Given the description of an element on the screen output the (x, y) to click on. 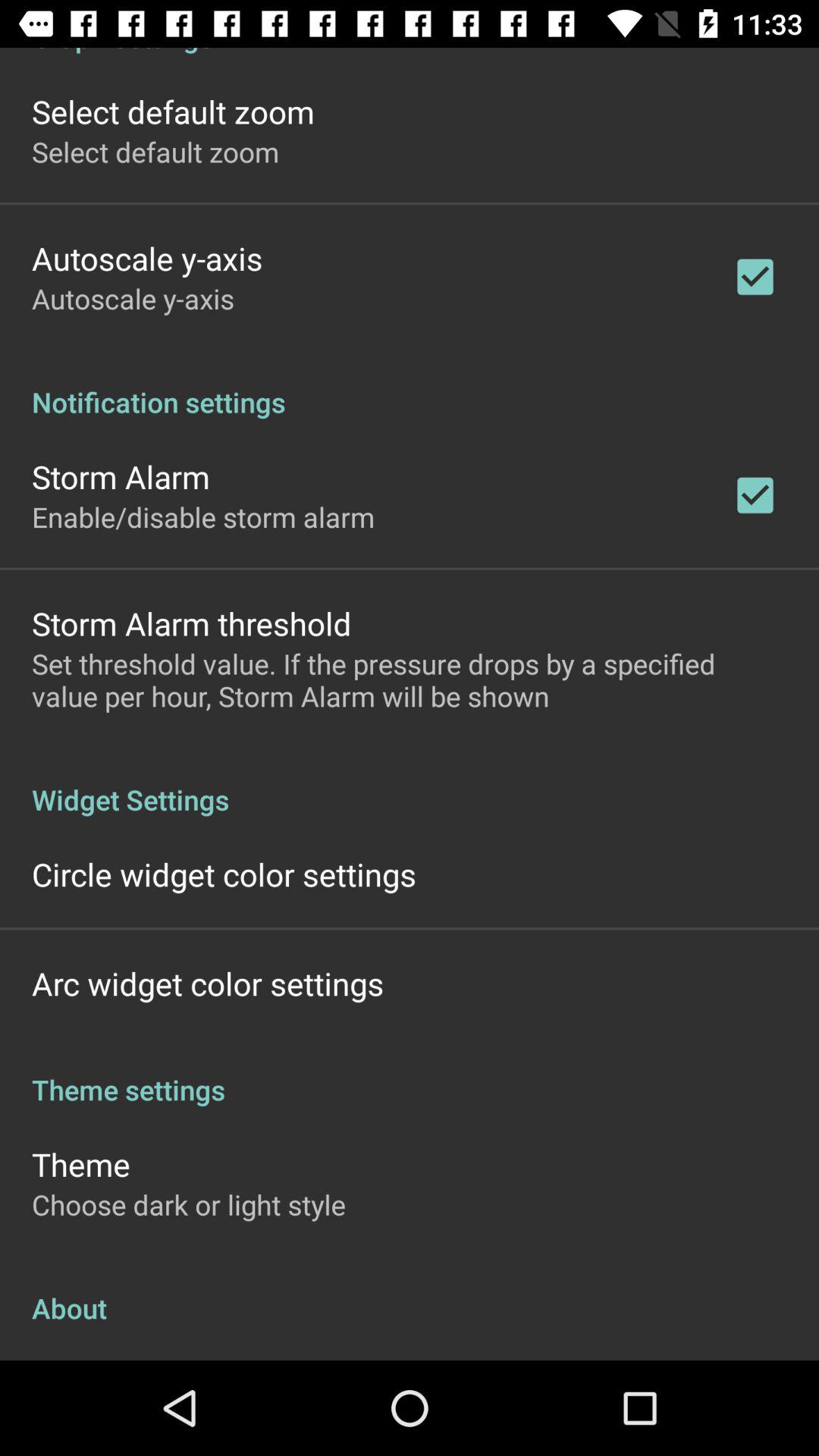
scroll until the about item (409, 1291)
